Given the description of an element on the screen output the (x, y) to click on. 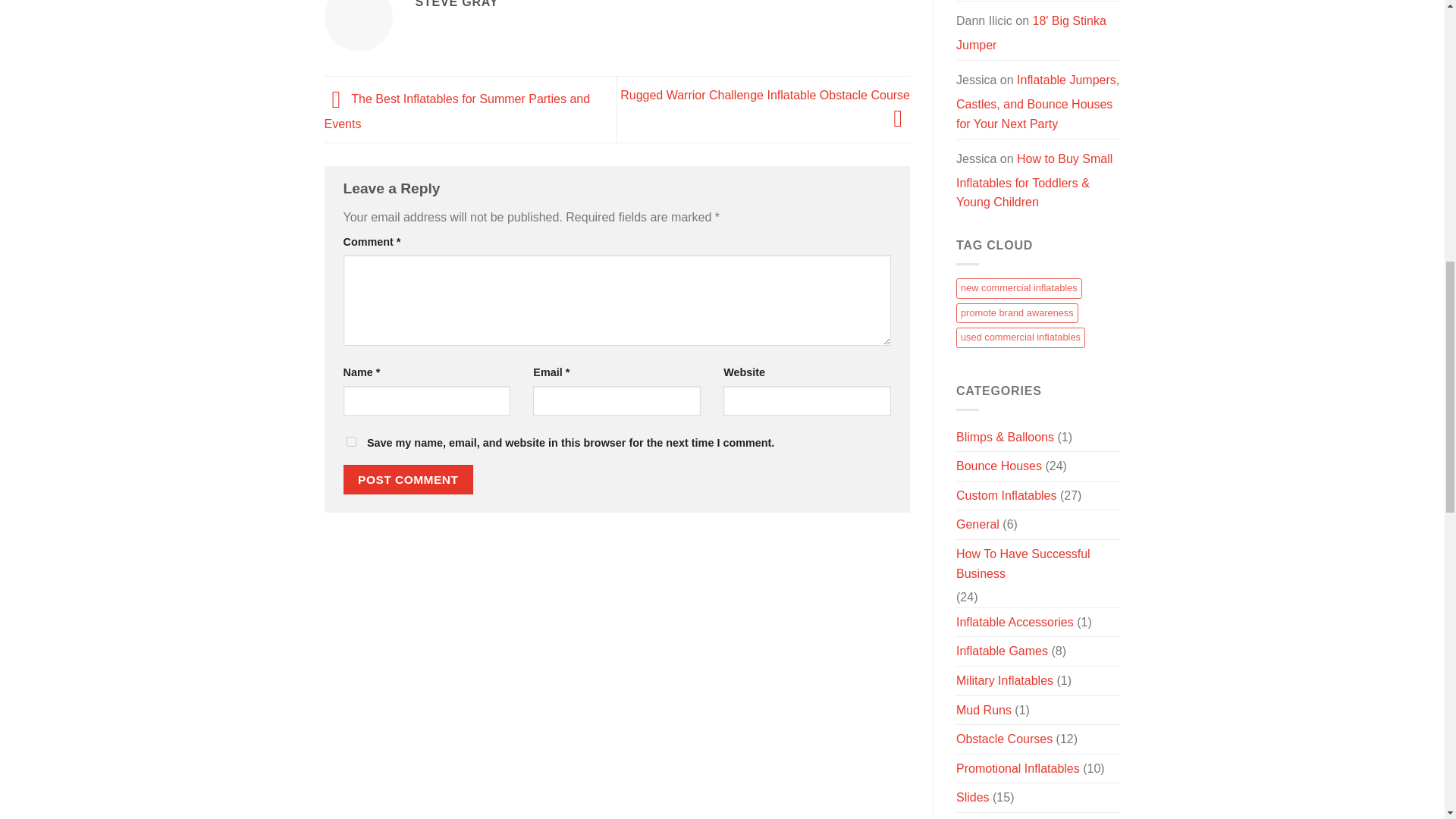
yes (350, 441)
Post Comment (407, 479)
